Given the description of an element on the screen output the (x, y) to click on. 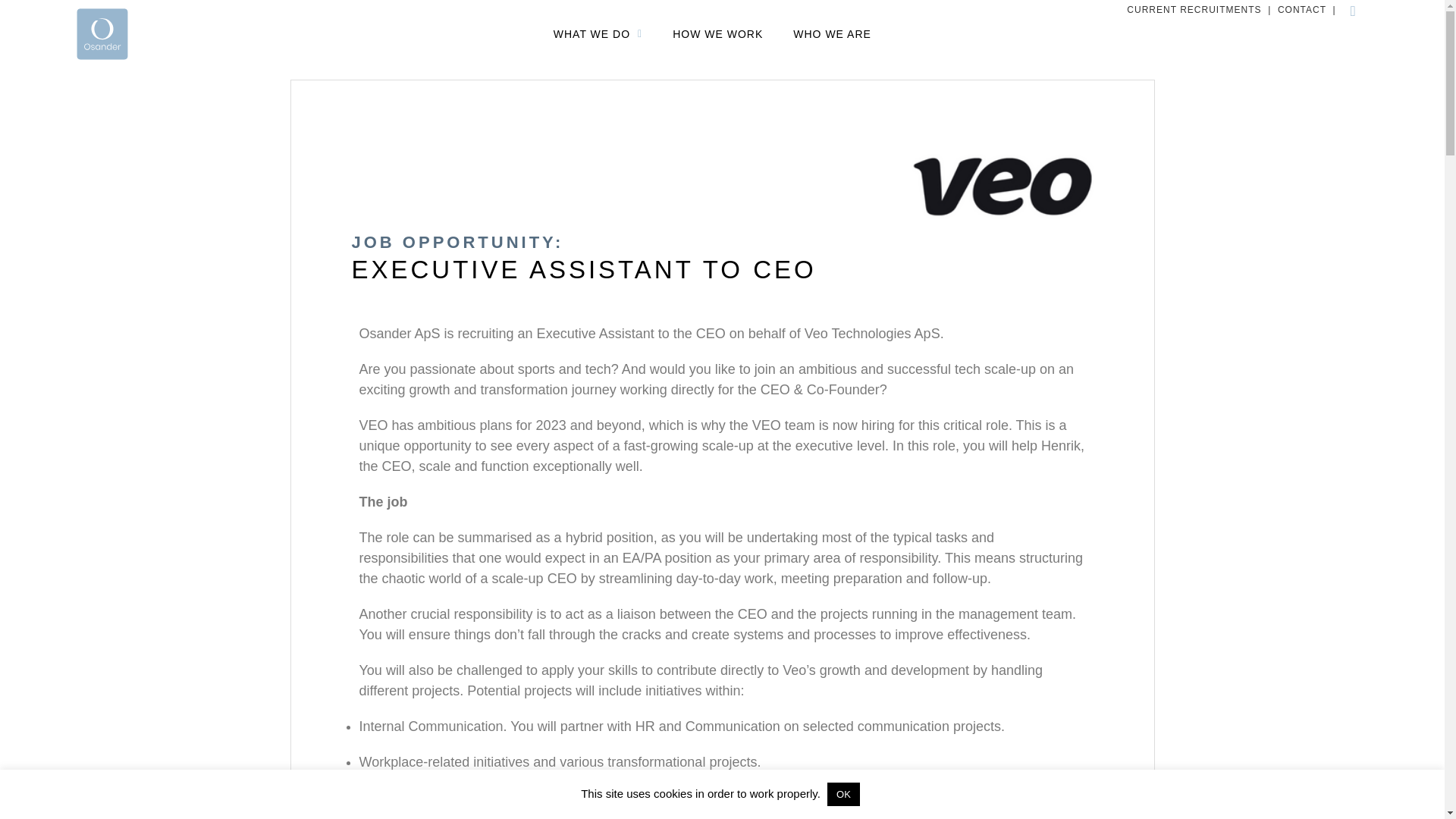
HOW WE WORK (717, 33)
WHO WE ARE (832, 33)
CURRENT RECRUITMENTS (1193, 9)
WHAT WE DO (598, 33)
CONTACT (1302, 9)
